Given the description of an element on the screen output the (x, y) to click on. 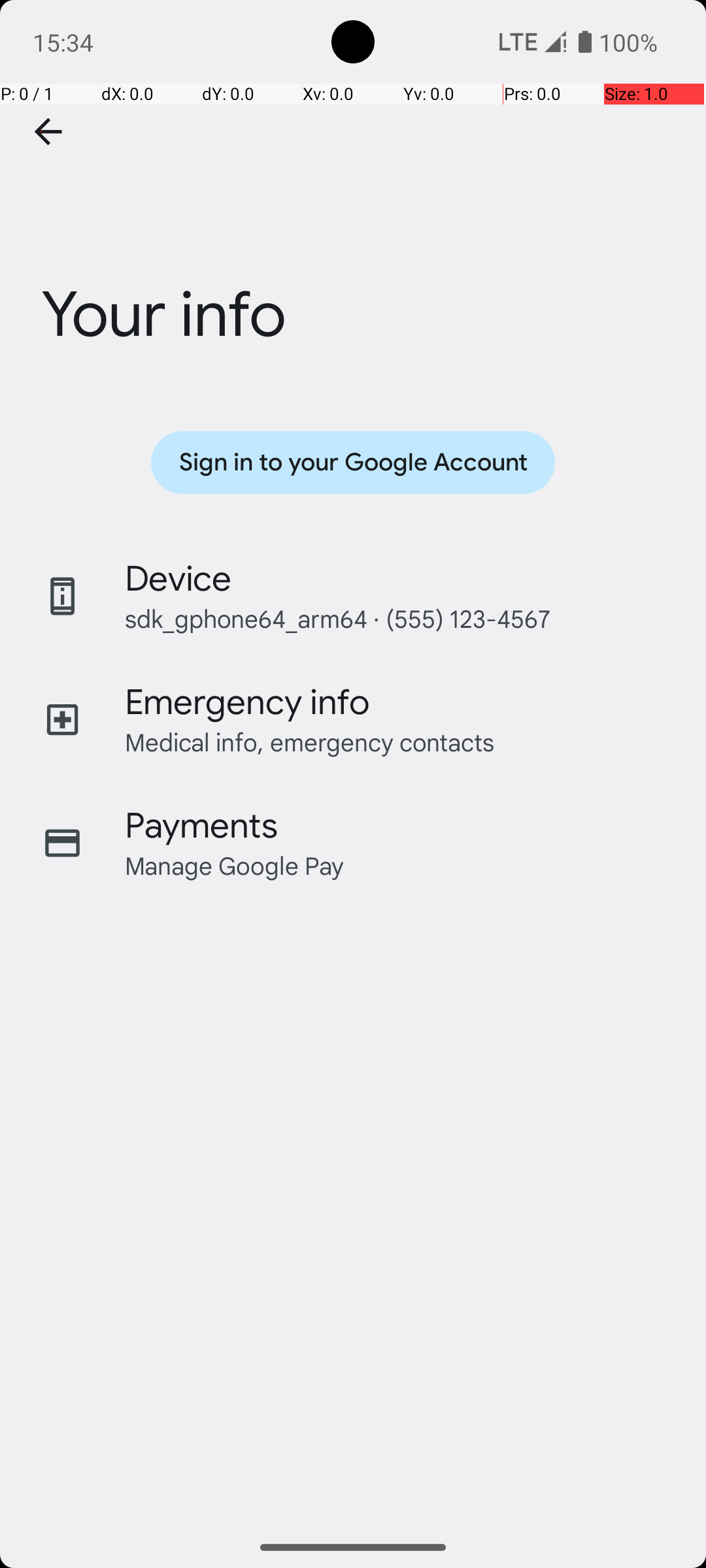
Sign in to your Google Account Element type: android.widget.Button (352, 462)
sdk_gphone64_arm64 · (555) 123-4567 Element type: android.widget.TextView (337, 618)
Emergency info Element type: android.widget.TextView (246, 702)
Medical info, emergency contacts Element type: android.widget.TextView (309, 741)
Payments Element type: android.widget.TextView (200, 825)
Manage Google Pay Element type: android.widget.TextView (234, 865)
